Given the description of an element on the screen output the (x, y) to click on. 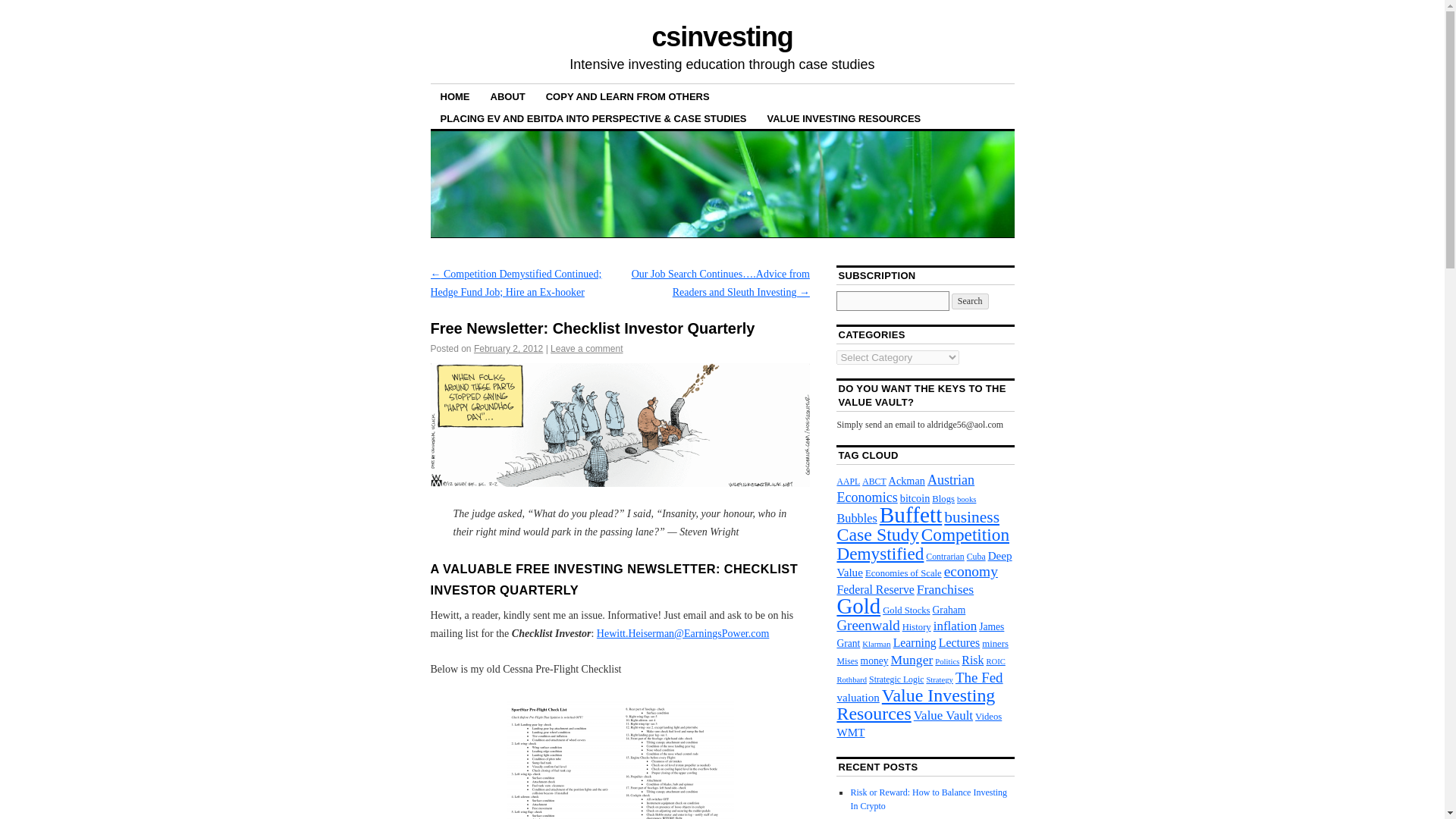
bitcoin (914, 498)
VALUE INVESTING RESOURCES (844, 117)
Preflight Checklist (619, 757)
csinvesting (721, 36)
Leave a comment (586, 348)
Search (970, 301)
Blogs (943, 498)
Search (970, 301)
Bubbles (855, 518)
Ackman (906, 480)
